Given the description of an element on the screen output the (x, y) to click on. 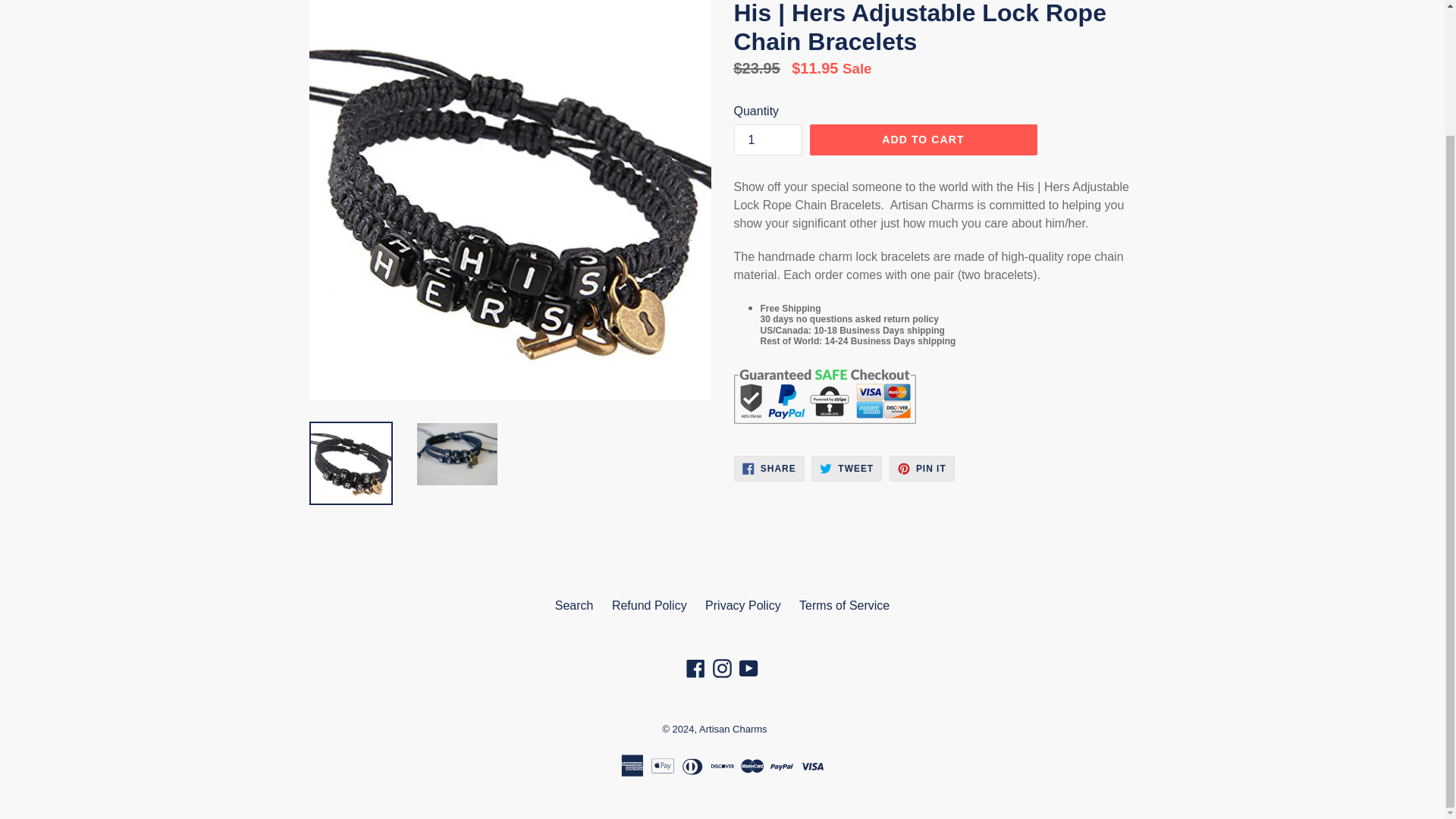
Tweet on Twitter (769, 468)
Artisan Charms on YouTube (846, 468)
Artisan Charms on Facebook (748, 668)
Artisan Charms on Instagram (846, 468)
ADD TO CART (695, 668)
1 (721, 668)
Share on Facebook (922, 140)
Pin on Pinterest (767, 139)
